Given the description of an element on the screen output the (x, y) to click on. 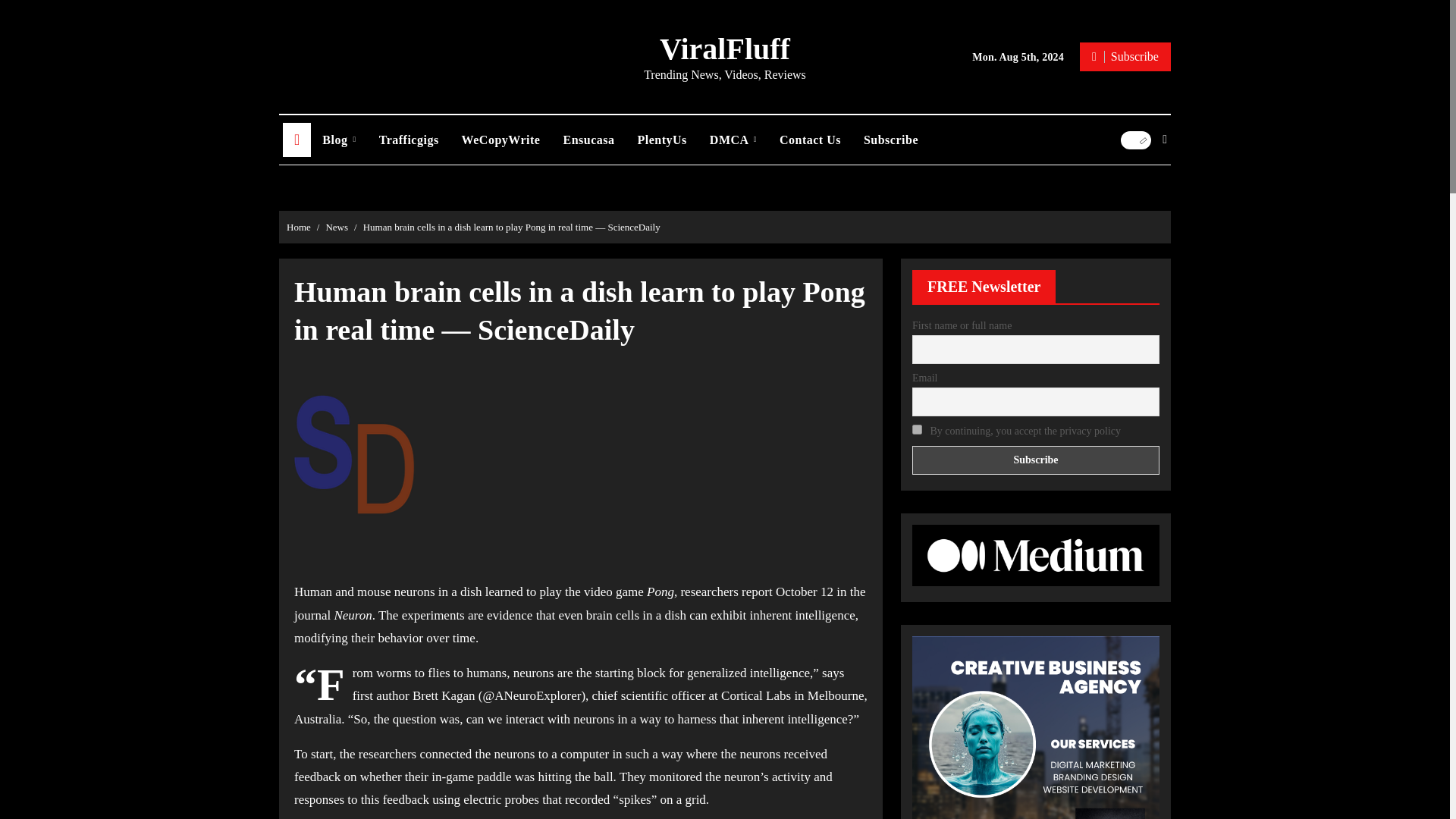
Blog (338, 139)
Home (296, 140)
PlentyUs (662, 139)
Trafficgigs (408, 139)
Contact Us (809, 139)
DMCA (733, 139)
Subscribe (1125, 56)
WeCopyWrite (500, 139)
Subscribe (1035, 460)
Ensucasa (588, 139)
ViralFluff (724, 48)
on (916, 429)
Blog (338, 139)
